Given the description of an element on the screen output the (x, y) to click on. 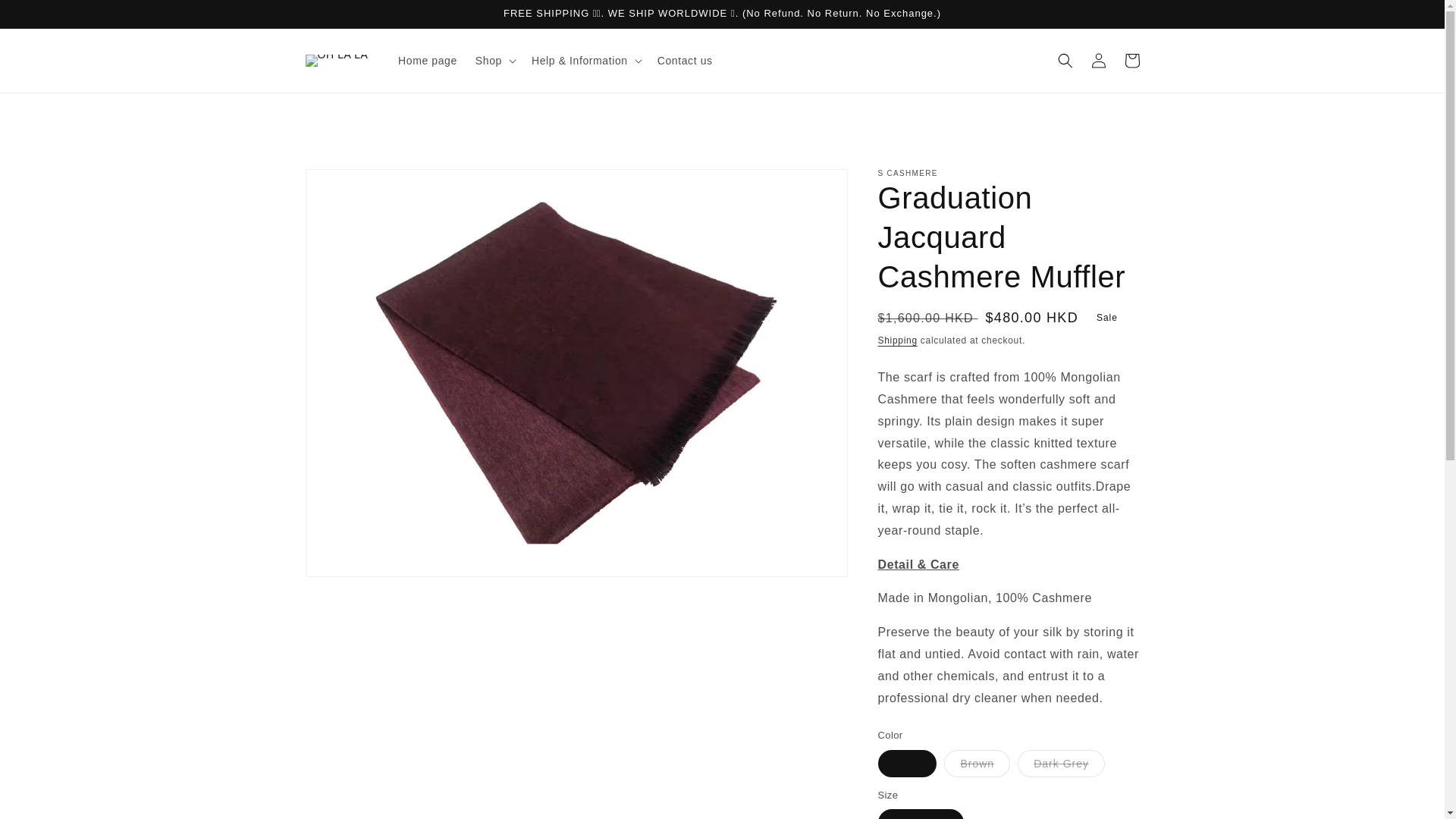
Home page (426, 60)
Skip to content (45, 17)
